Given the description of an element on the screen output the (x, y) to click on. 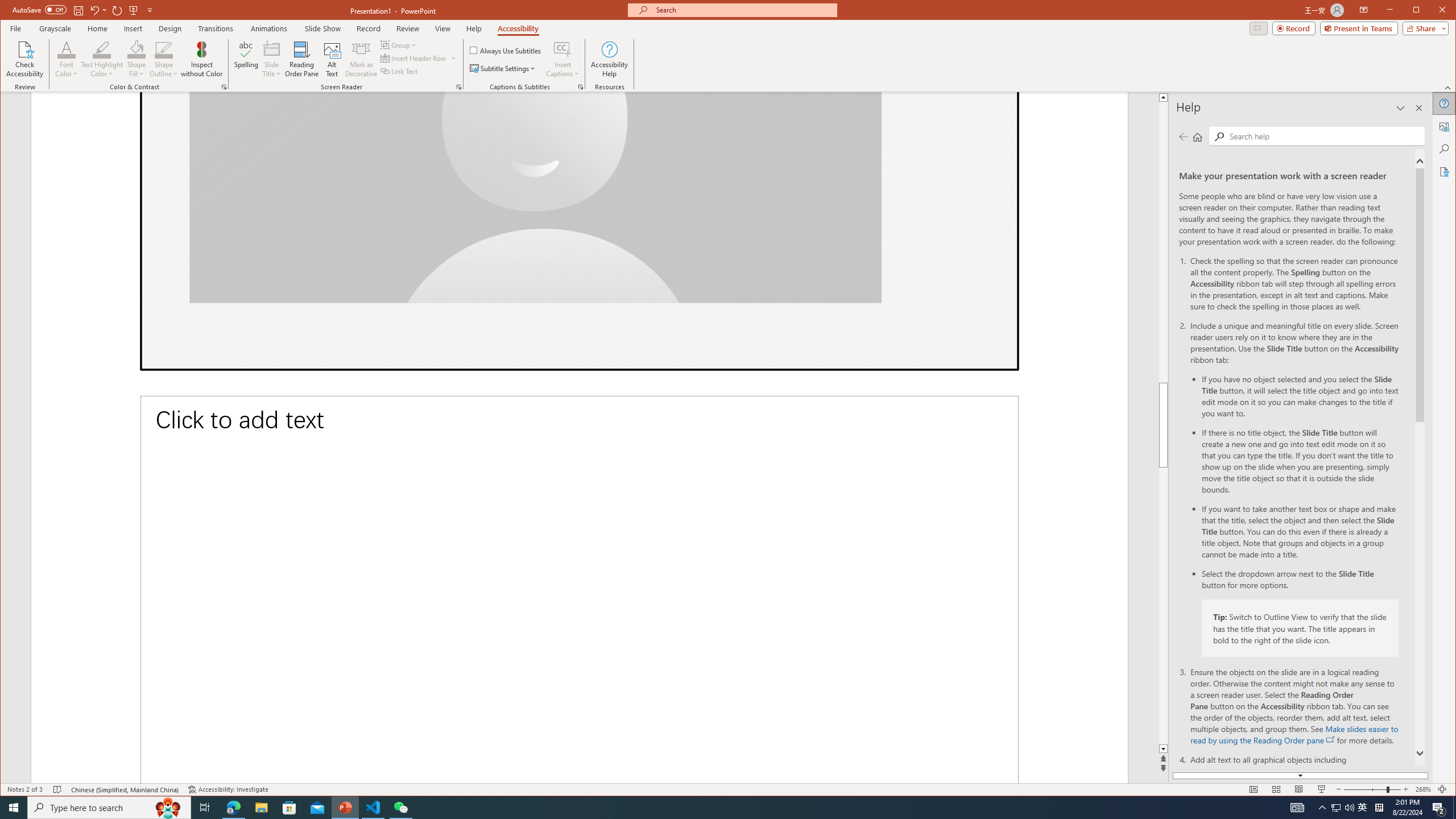
Always Use Subtitles (505, 49)
openinnewwindow (1330, 739)
